Given the description of an element on the screen output the (x, y) to click on. 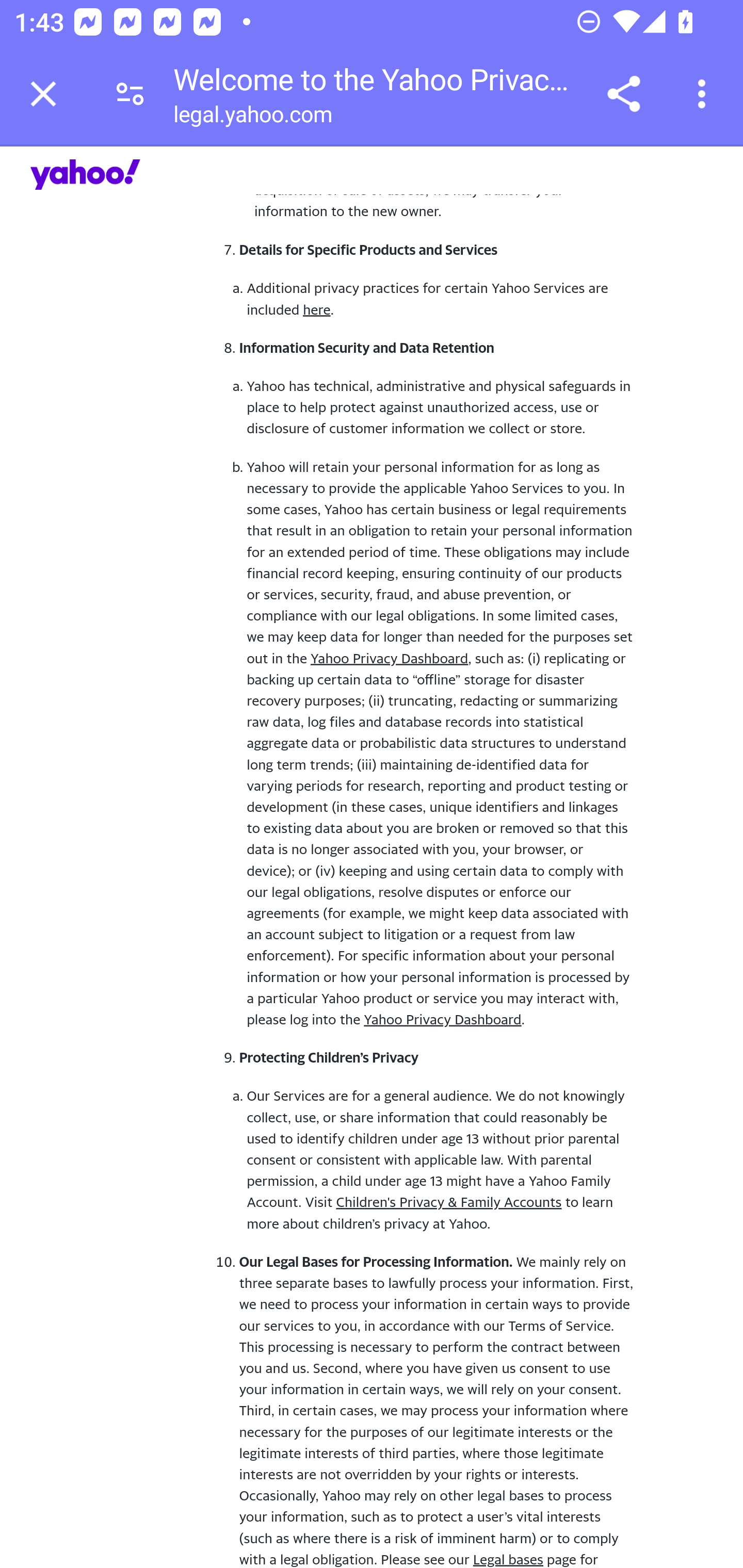
Close tab (43, 93)
Share (623, 93)
Customize and control Google Chrome (705, 93)
Connection is secure (129, 93)
legal.yahoo.com (252, 117)
here (315, 309)
Yahoo Privacy Dashboard (388, 657)
Yahoo Privacy Dashboard (441, 1019)
Children's Privacy & Family Accounts (448, 1201)
Legal bases (507, 1559)
